Given the description of an element on the screen output the (x, y) to click on. 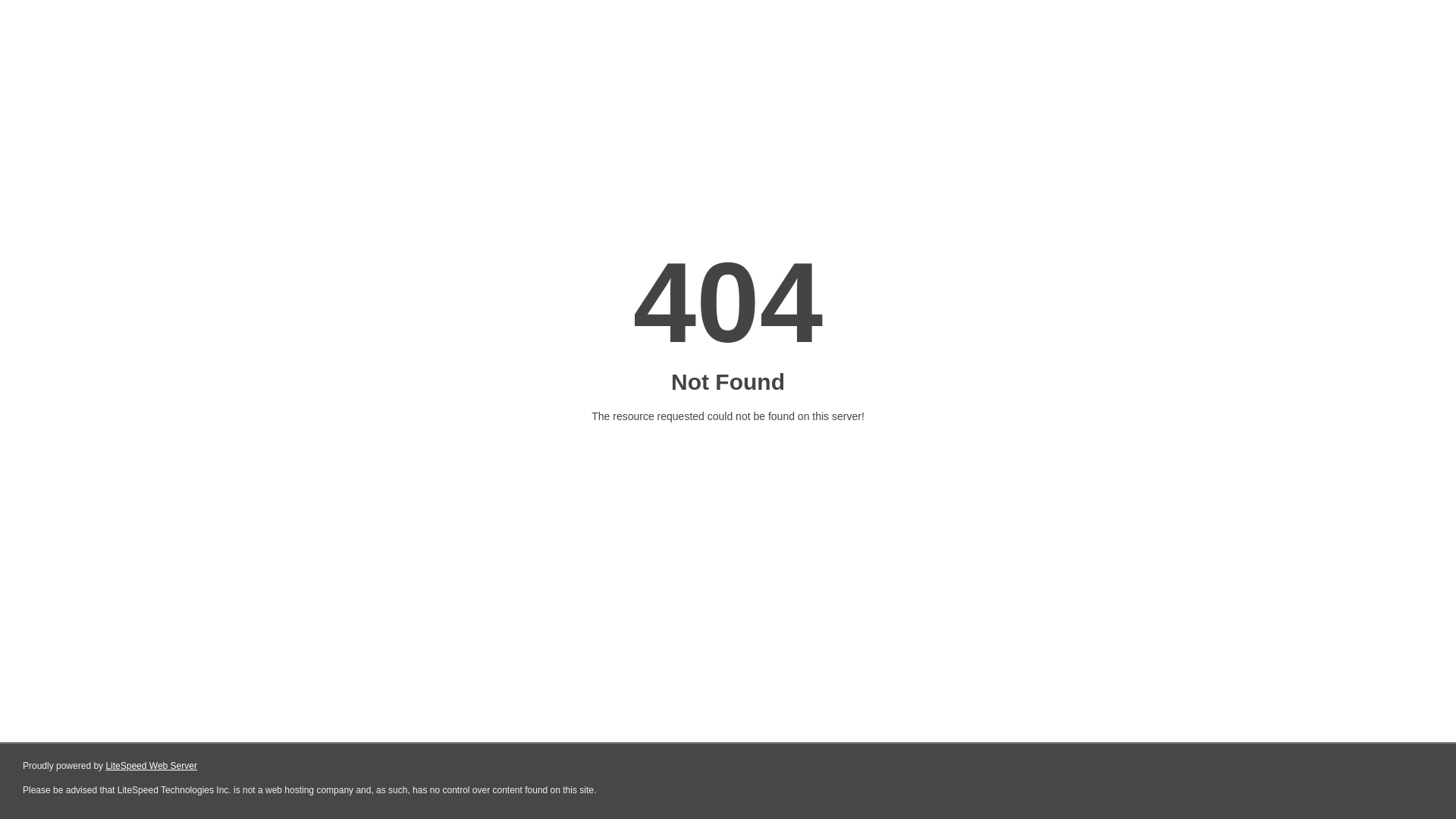
LiteSpeed Web Server Element type: text (151, 765)
